Given the description of an element on the screen output the (x, y) to click on. 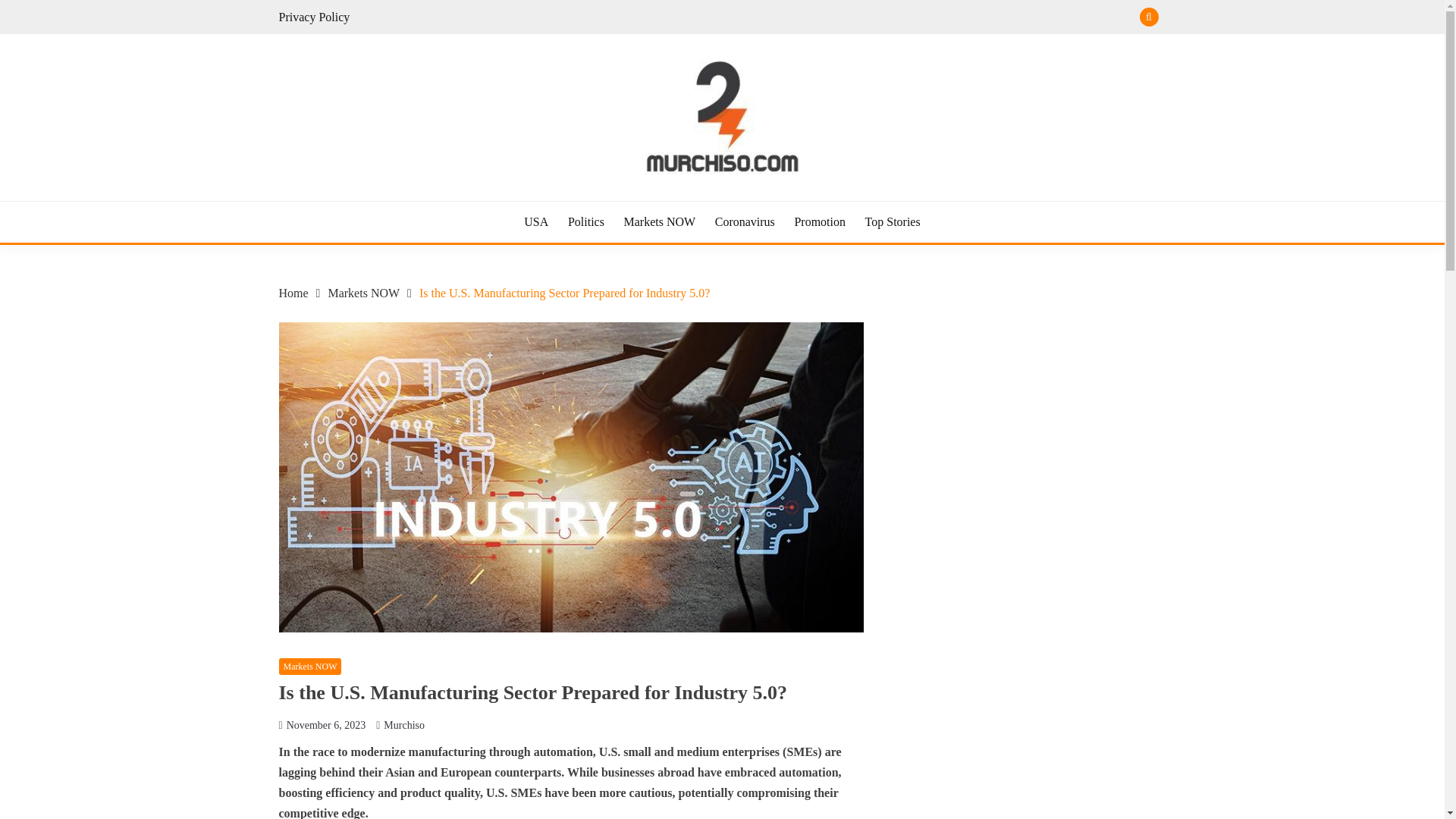
Markets NOW (659, 221)
Promotion (819, 221)
Home (293, 292)
Search (832, 18)
USA (536, 221)
Politics (585, 221)
Markets NOW (310, 666)
Coronavirus (744, 221)
Murchiso (404, 725)
Top Stories (892, 221)
